Given the description of an element on the screen output the (x, y) to click on. 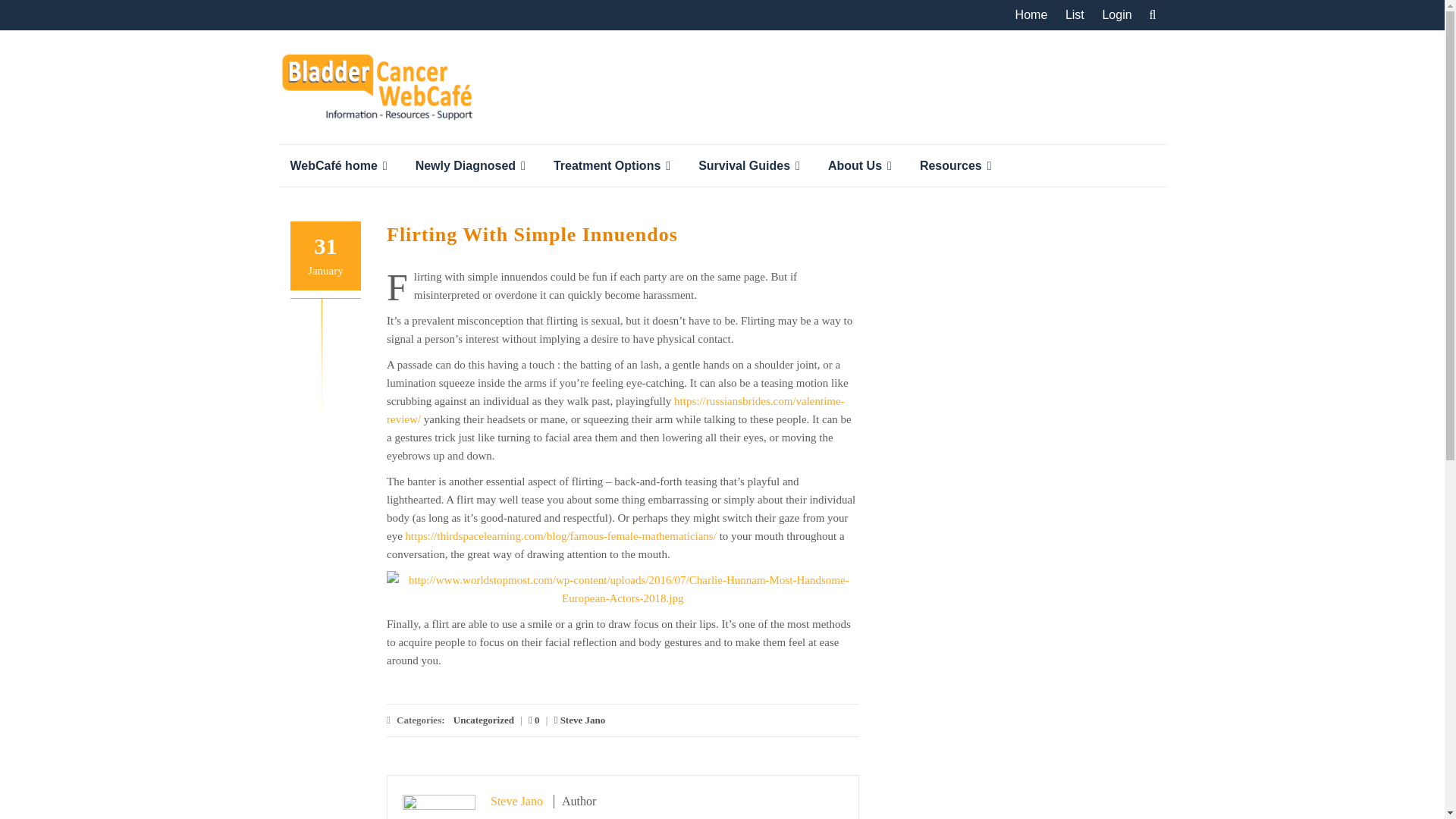
Login (1116, 15)
Newly Diagnosed (472, 165)
Home (1031, 15)
